Given the description of an element on the screen output the (x, y) to click on. 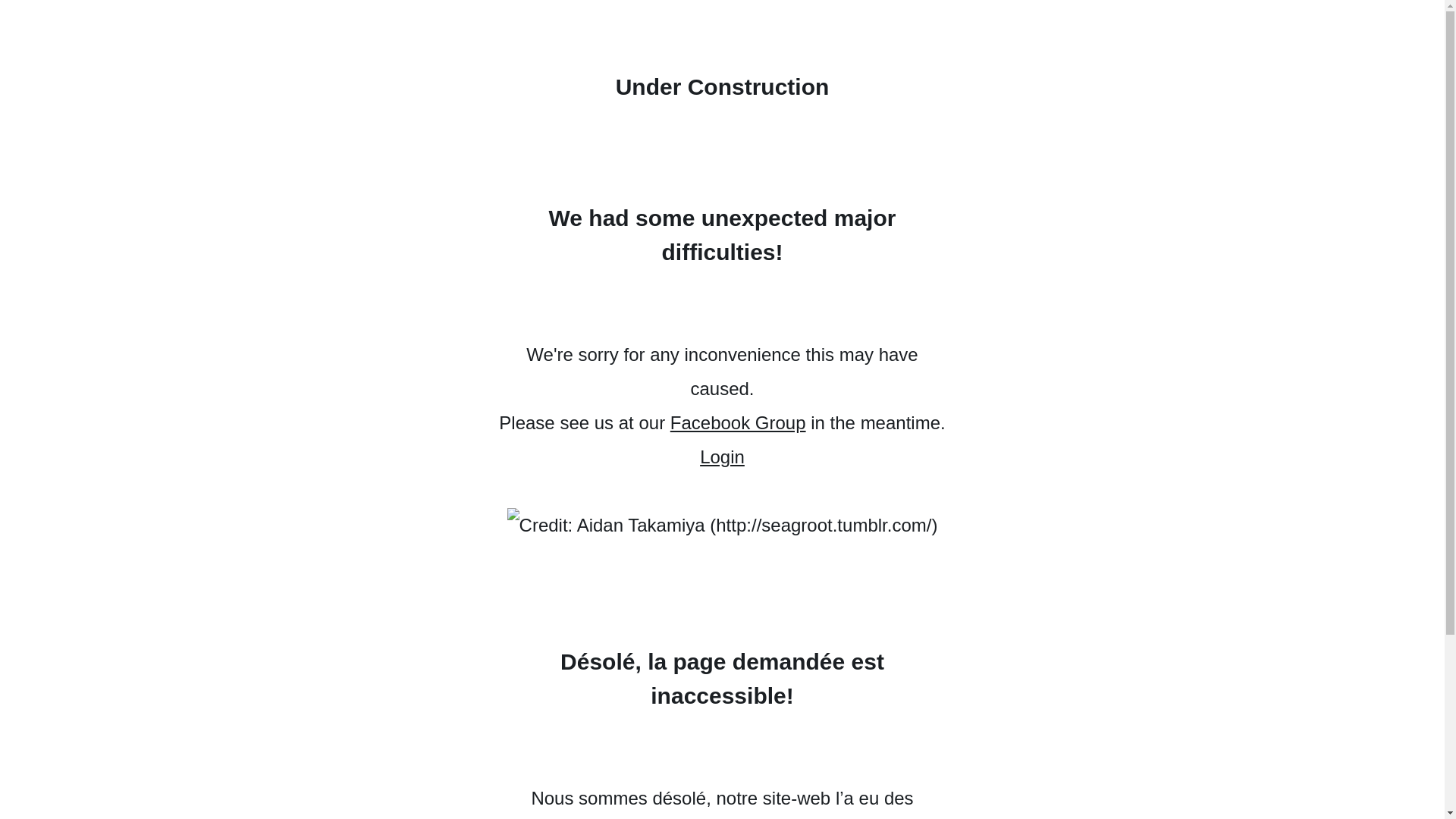
Login Element type: text (721, 456)
Facebook Group Element type: text (738, 422)
